Given the description of an element on the screen output the (x, y) to click on. 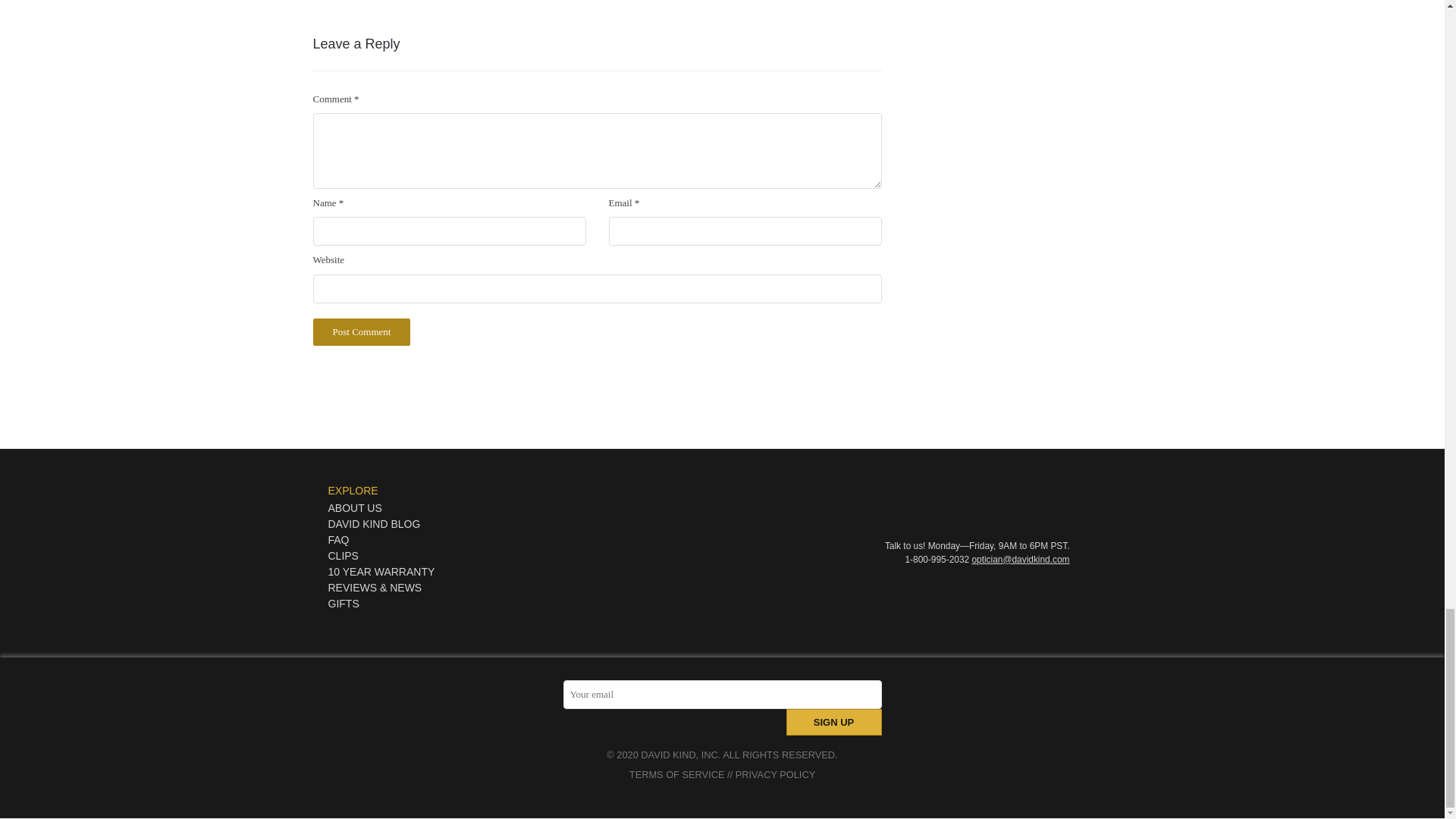
Post Comment (361, 331)
